Given the description of an element on the screen output the (x, y) to click on. 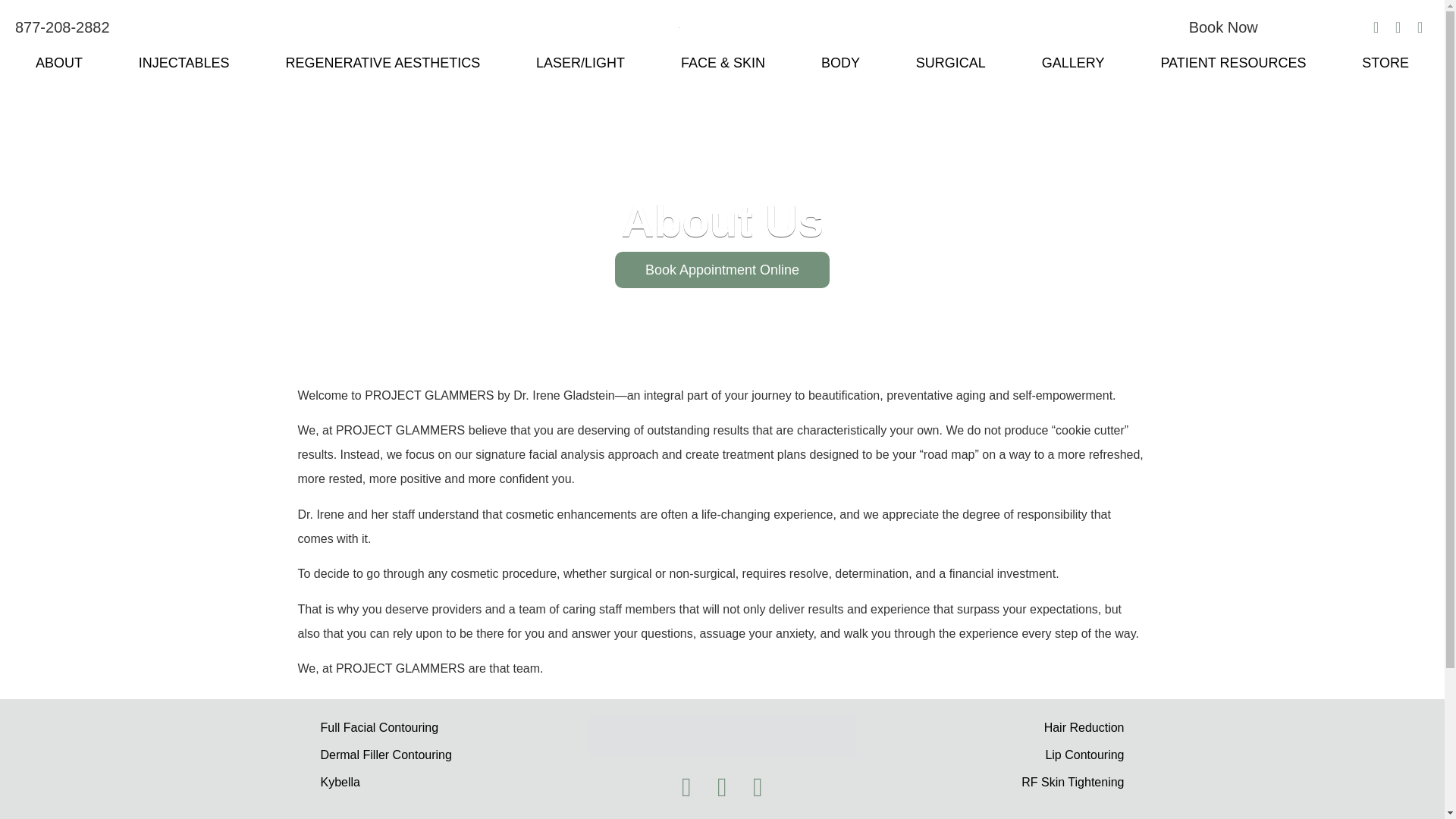
ABOUT (58, 62)
877-208-2882 (62, 27)
Book Now (1223, 27)
INJECTABLES (183, 62)
